Given the description of an element on the screen output the (x, y) to click on. 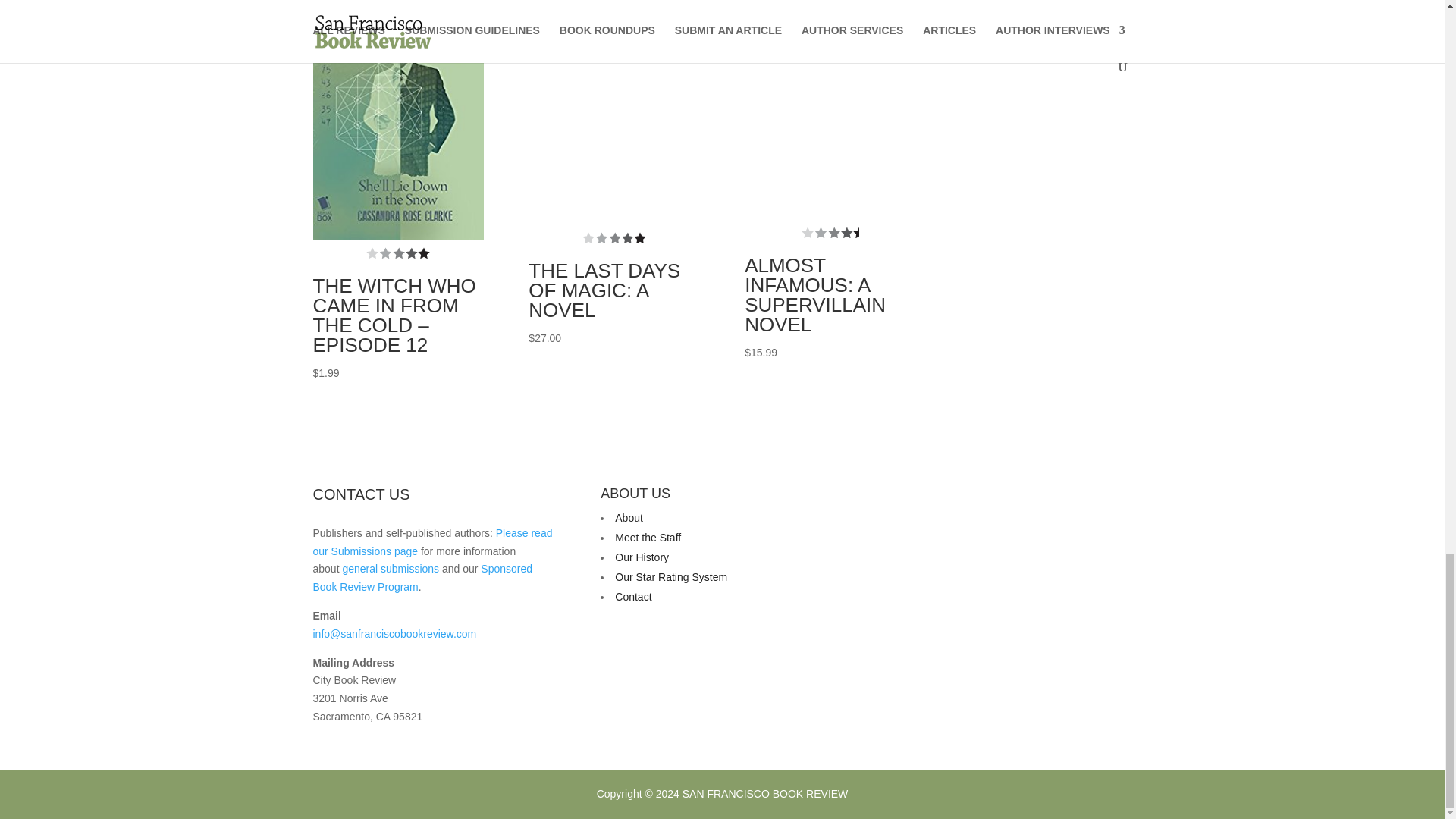
Sponsored Book Review Program (422, 577)
general submissions (390, 568)
Please read our Submissions page (432, 542)
